Given the description of an element on the screen output the (x, y) to click on. 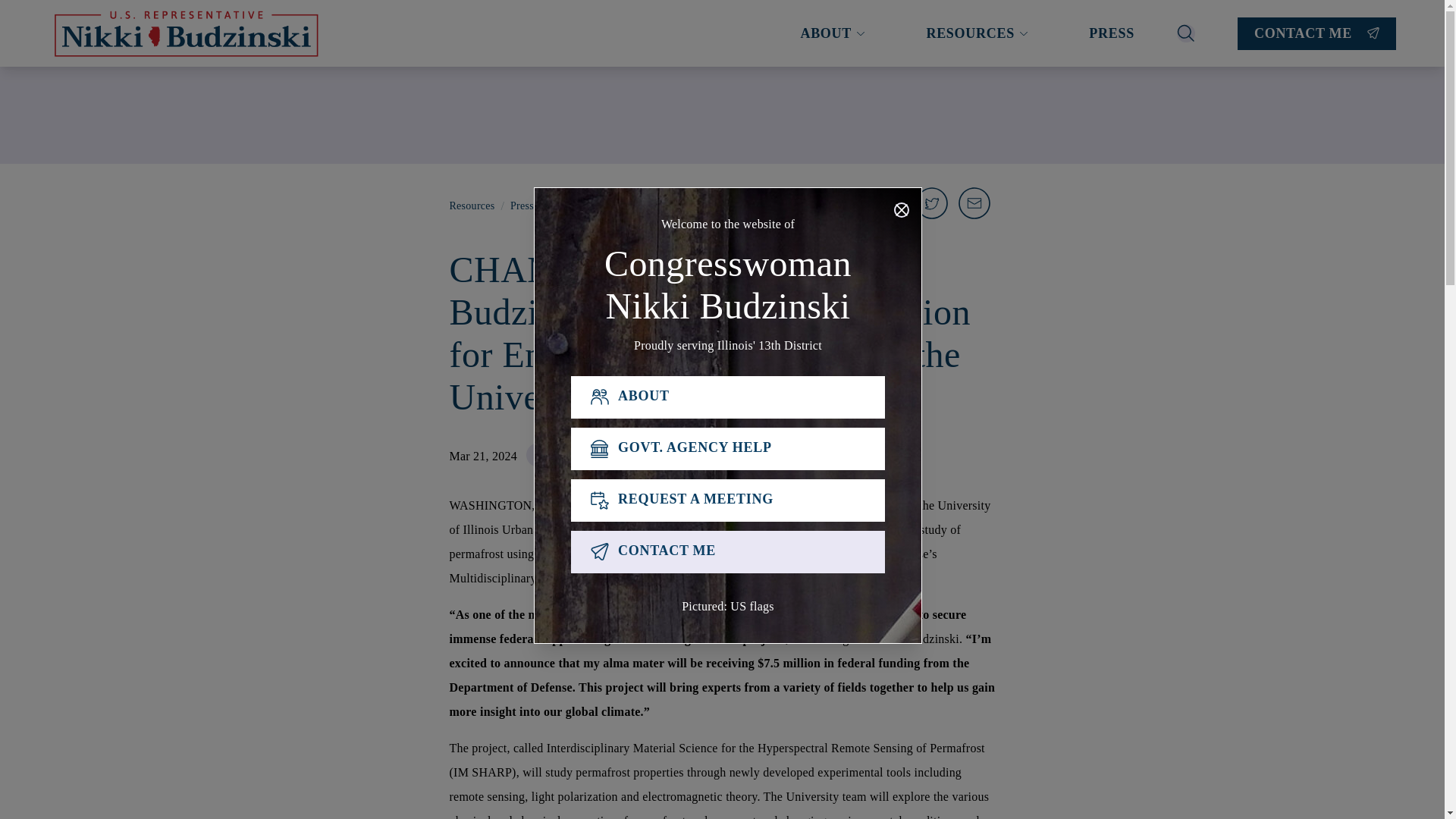
ABOUT (727, 396)
RESOURCES (976, 33)
Federal Grants (663, 456)
GOVT. AGENCY HELP (727, 448)
PRESS (1111, 33)
REQUEST A MEETING (727, 500)
ABOUT (832, 33)
Press (759, 456)
Press (522, 206)
Resources (471, 206)
